Given the description of an element on the screen output the (x, y) to click on. 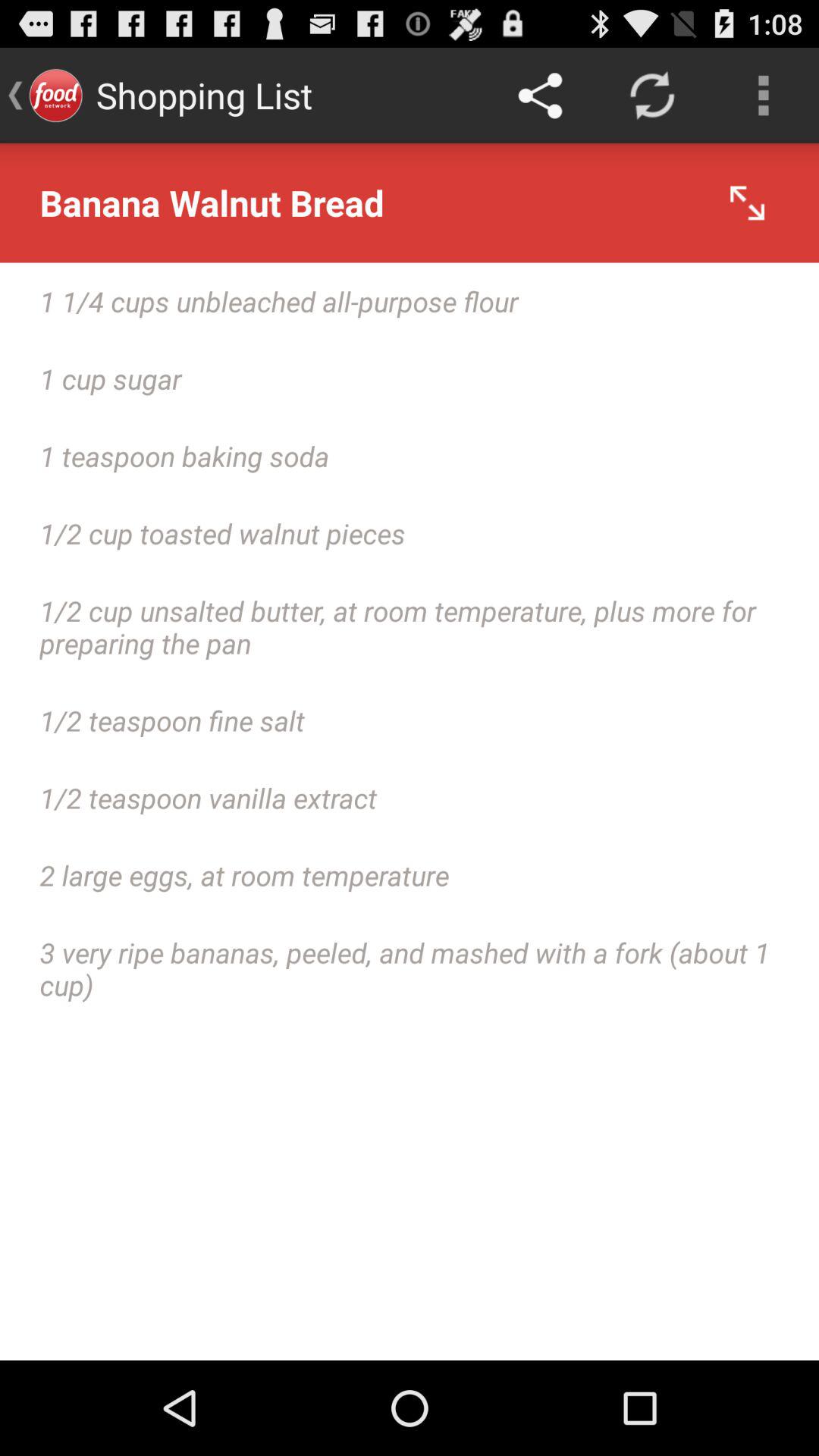
flip until banana walnut bread item (409, 202)
